Given the description of an element on the screen output the (x, y) to click on. 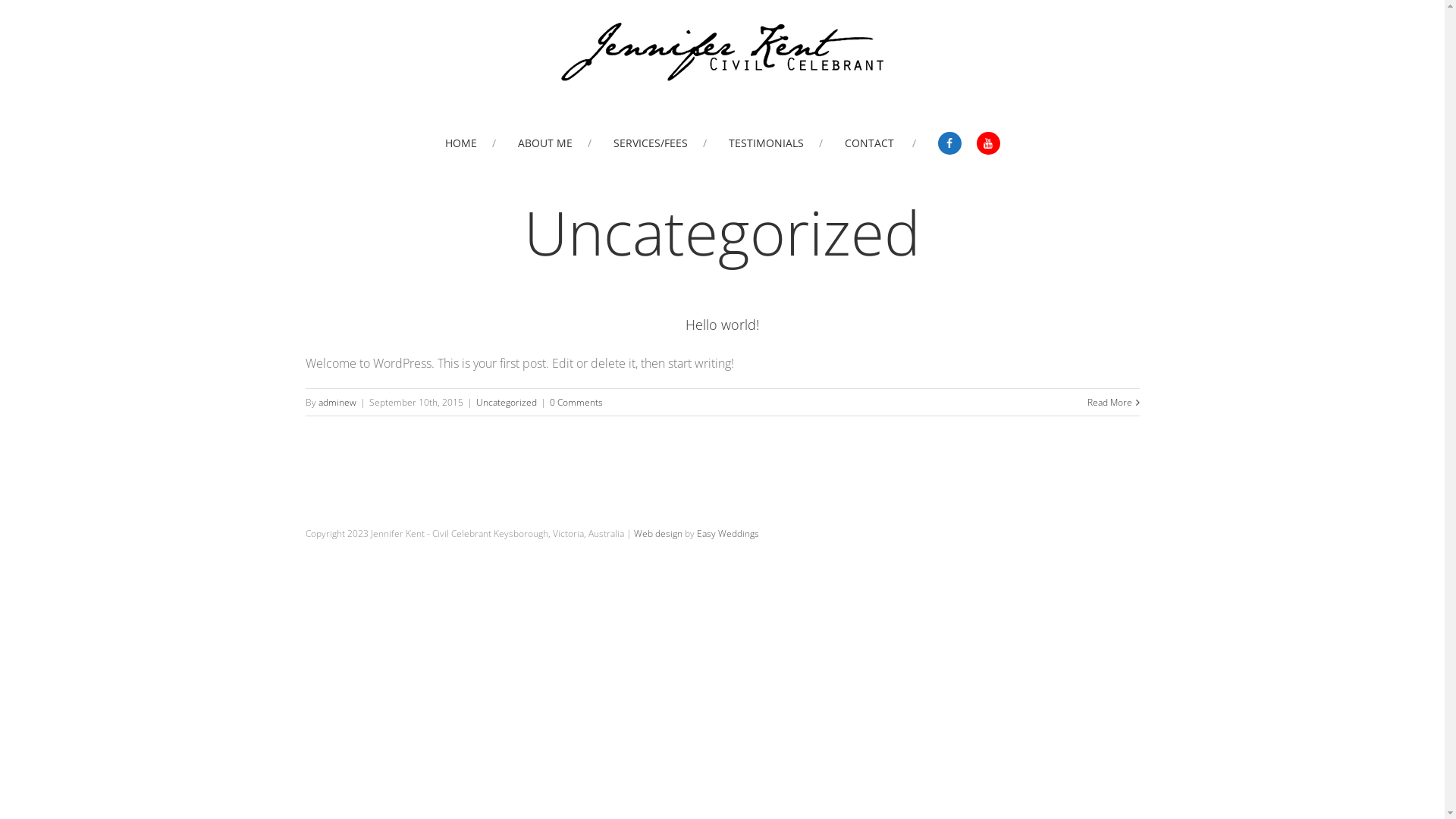
CONTACT Element type: text (880, 143)
Hello world! Element type: text (722, 324)
SERVICES/FEES Element type: text (659, 143)
Uncategorized Element type: text (506, 401)
TESTIMONIALS Element type: text (775, 143)
ABOUT ME Element type: text (553, 143)
HOME Element type: text (469, 143)
Web design Element type: text (657, 533)
0 Comments Element type: text (575, 401)
Easy Weddings Element type: text (727, 533)
Read More Element type: text (1109, 401)
adminew Element type: text (337, 401)
